Given the description of an element on the screen output the (x, y) to click on. 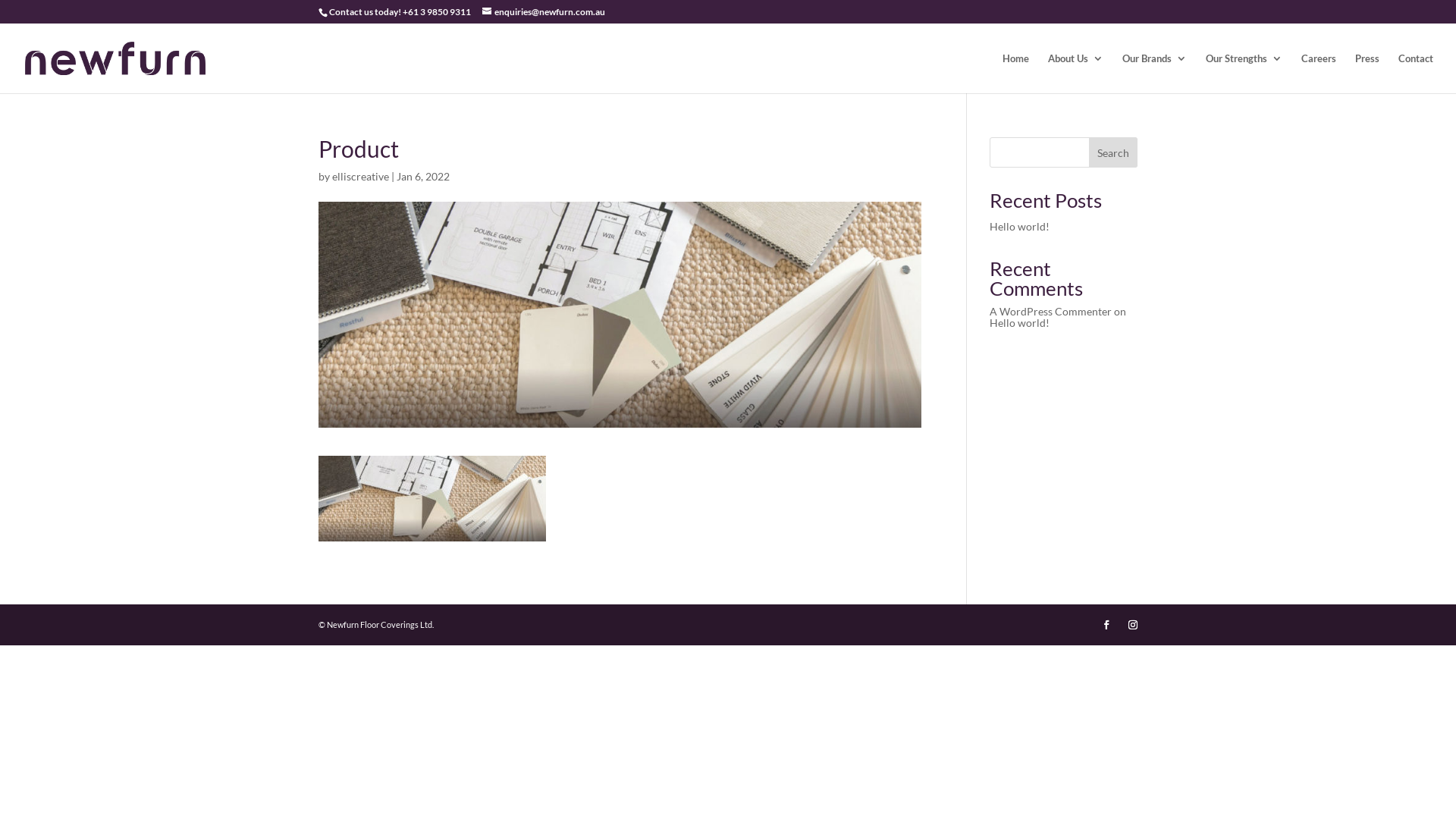
Search Element type: text (1112, 152)
Contact Element type: text (1415, 73)
Our Brands Element type: text (1154, 73)
enquiries@newfurn.com.au Element type: text (543, 11)
Careers Element type: text (1318, 73)
Hello world! Element type: text (1019, 225)
About Us Element type: text (1075, 73)
Our Strengths Element type: text (1243, 73)
elliscreative Element type: text (360, 175)
A WordPress Commenter Element type: text (1050, 310)
Press Element type: text (1367, 73)
Hello world! Element type: text (1019, 322)
Home Element type: text (1015, 73)
